Given the description of an element on the screen output the (x, y) to click on. 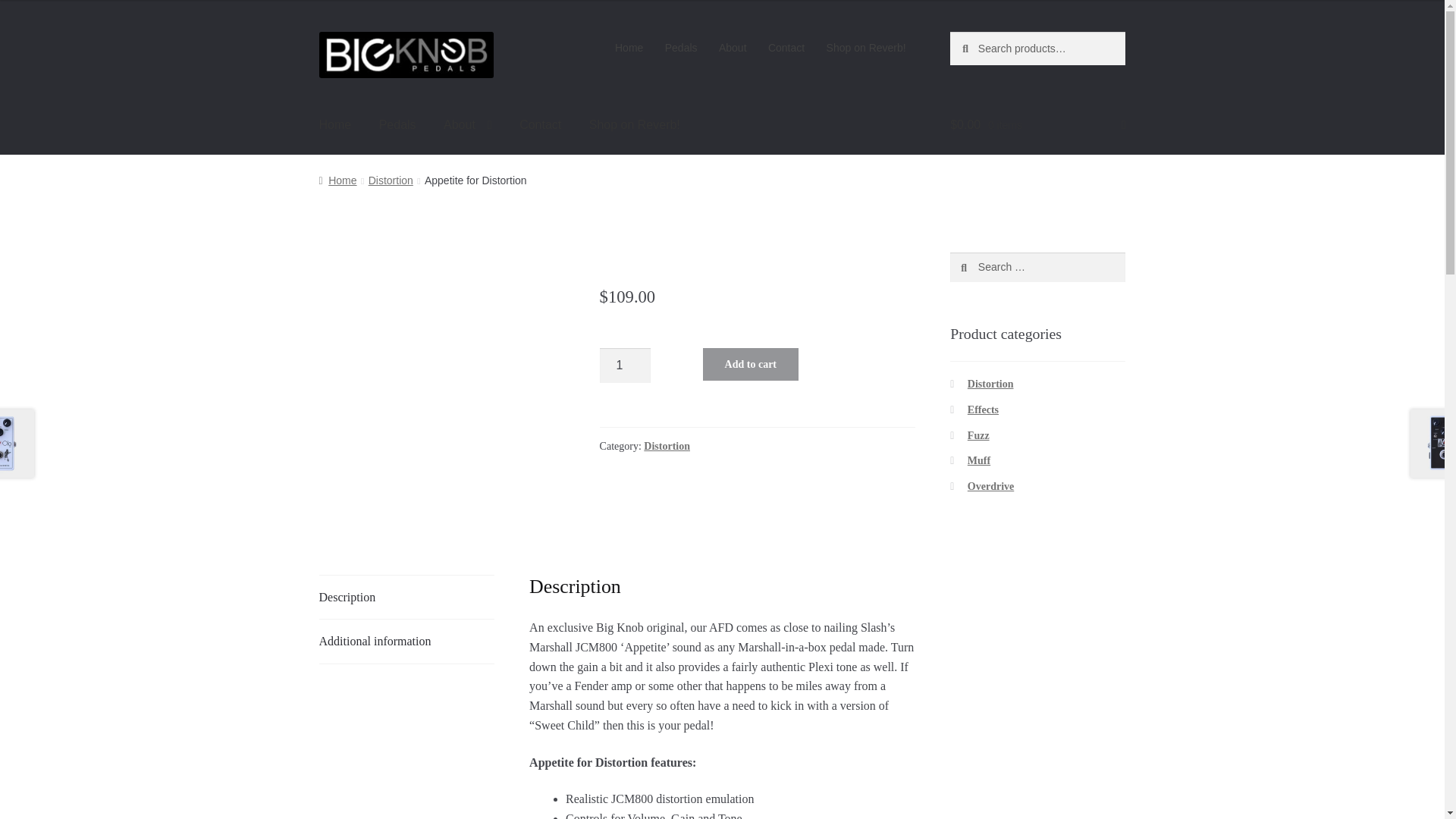
Description (406, 597)
Home (628, 47)
Additional information (406, 641)
About (732, 47)
Contact (539, 124)
1 (624, 365)
Pedals (397, 124)
Pedals (680, 47)
Distortion (666, 446)
Shop on Reverb! (634, 124)
Add to cart (750, 364)
Contact (785, 47)
View your shopping cart (1037, 124)
